Given the description of an element on the screen output the (x, y) to click on. 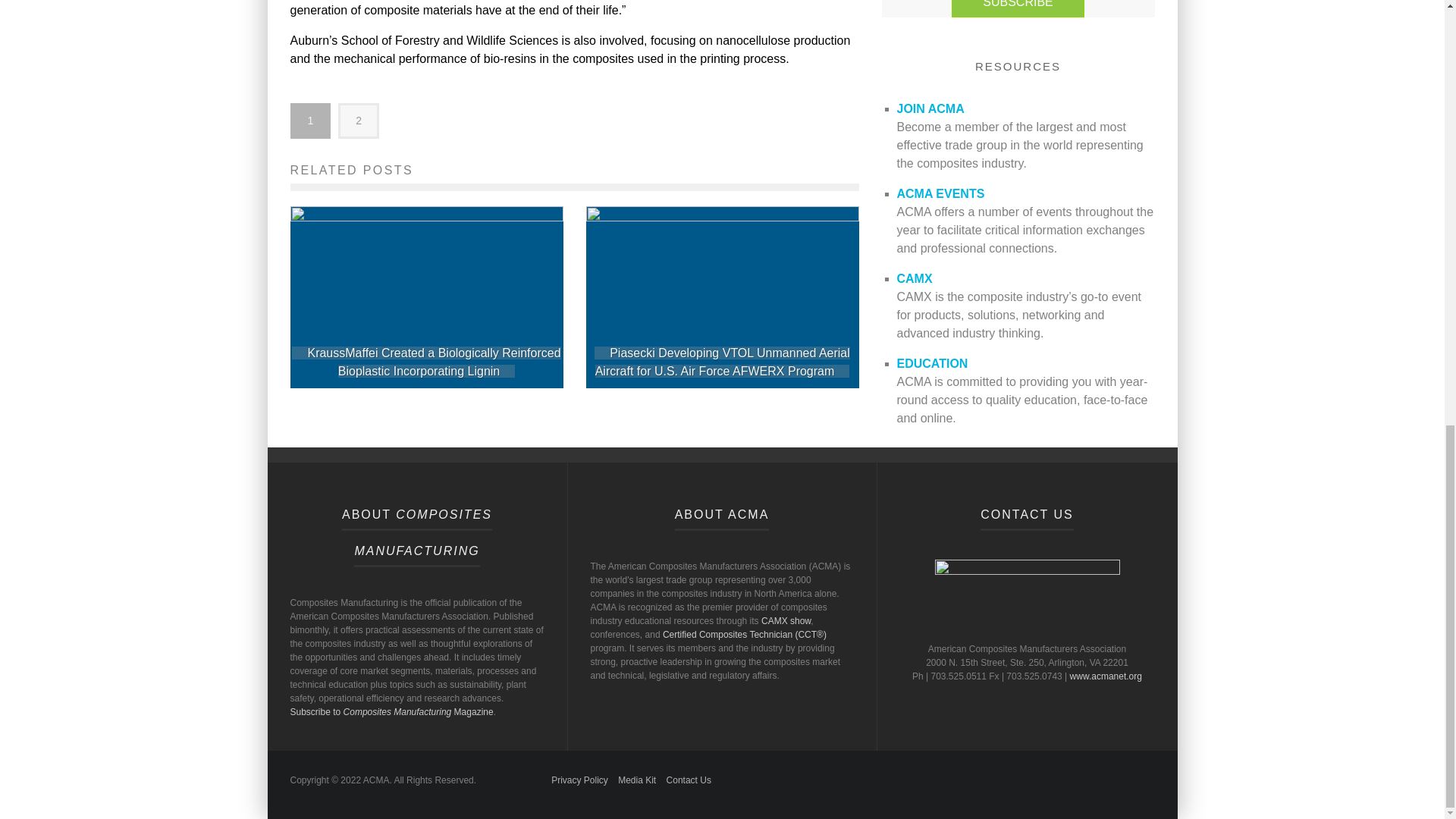
Subscribe (1017, 8)
